Given the description of an element on the screen output the (x, y) to click on. 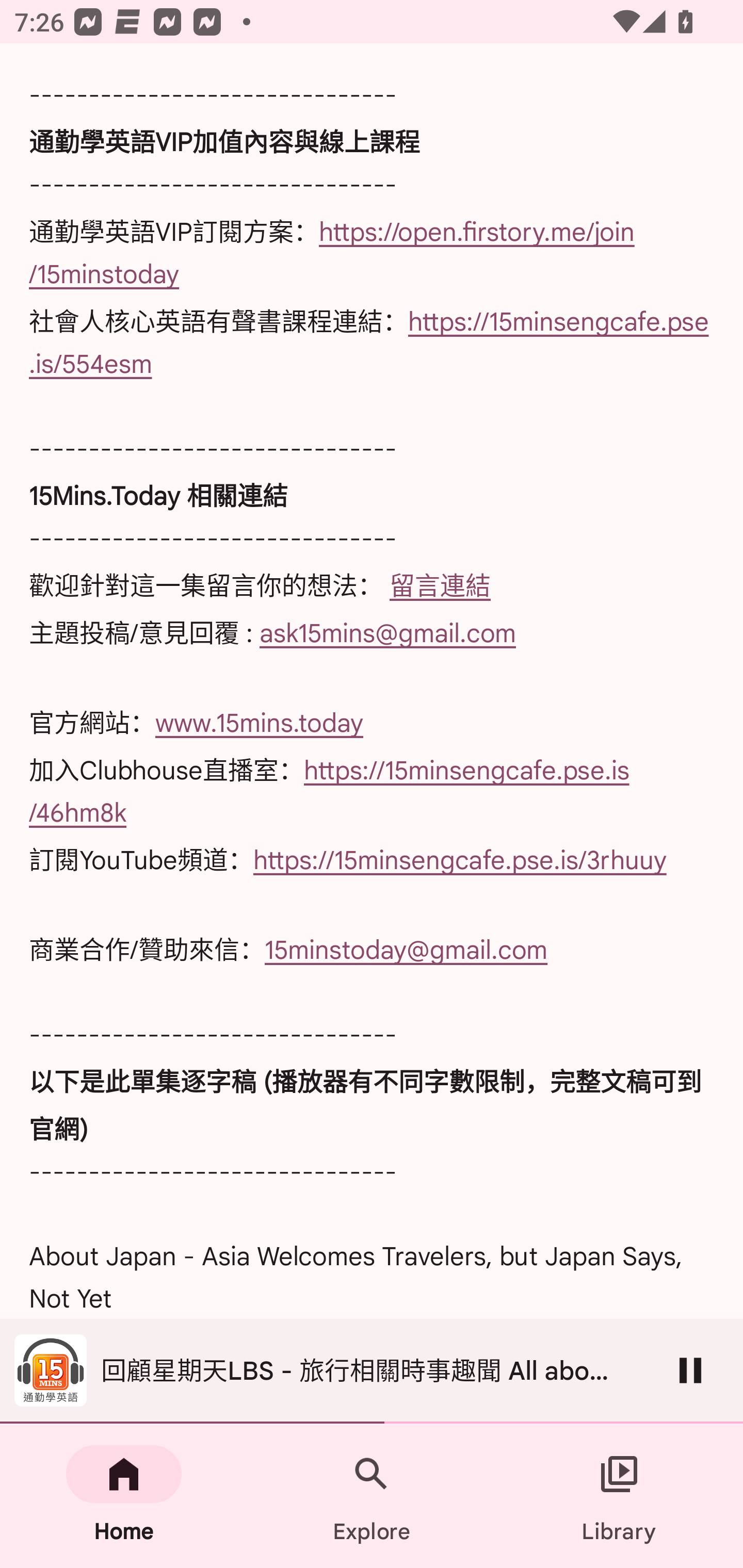
Pause (690, 1370)
Explore (371, 1495)
Library (619, 1495)
